Given the description of an element on the screen output the (x, y) to click on. 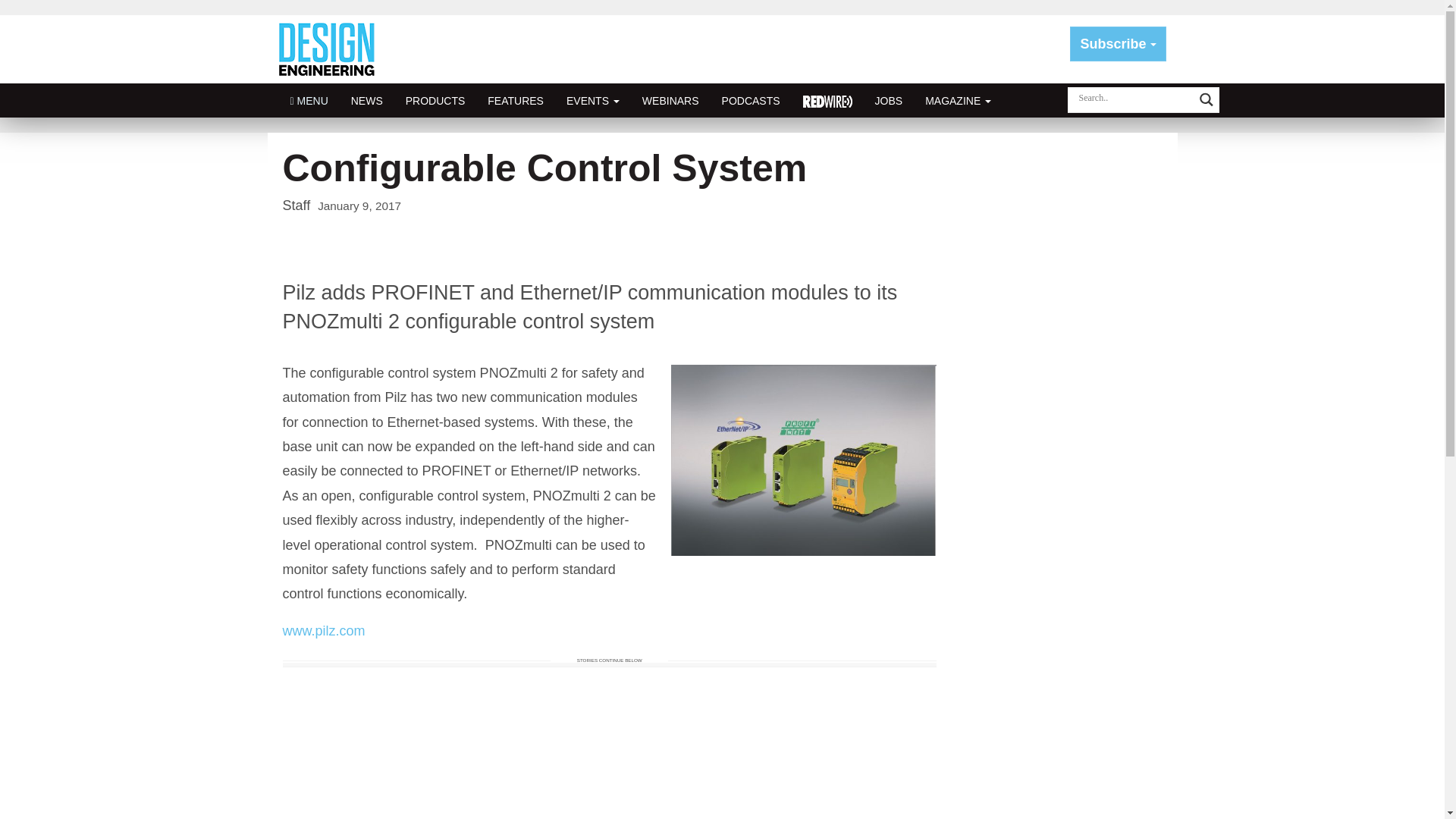
Click to show site navigation (309, 100)
PODCASTS (751, 100)
FEATURES (515, 100)
JOBS (888, 100)
MENU (309, 100)
PRODUCTS (435, 100)
MAGAZINE (958, 100)
Subscribe (1118, 43)
NEWS (366, 100)
Design Engineering (332, 48)
